Given the description of an element on the screen output the (x, y) to click on. 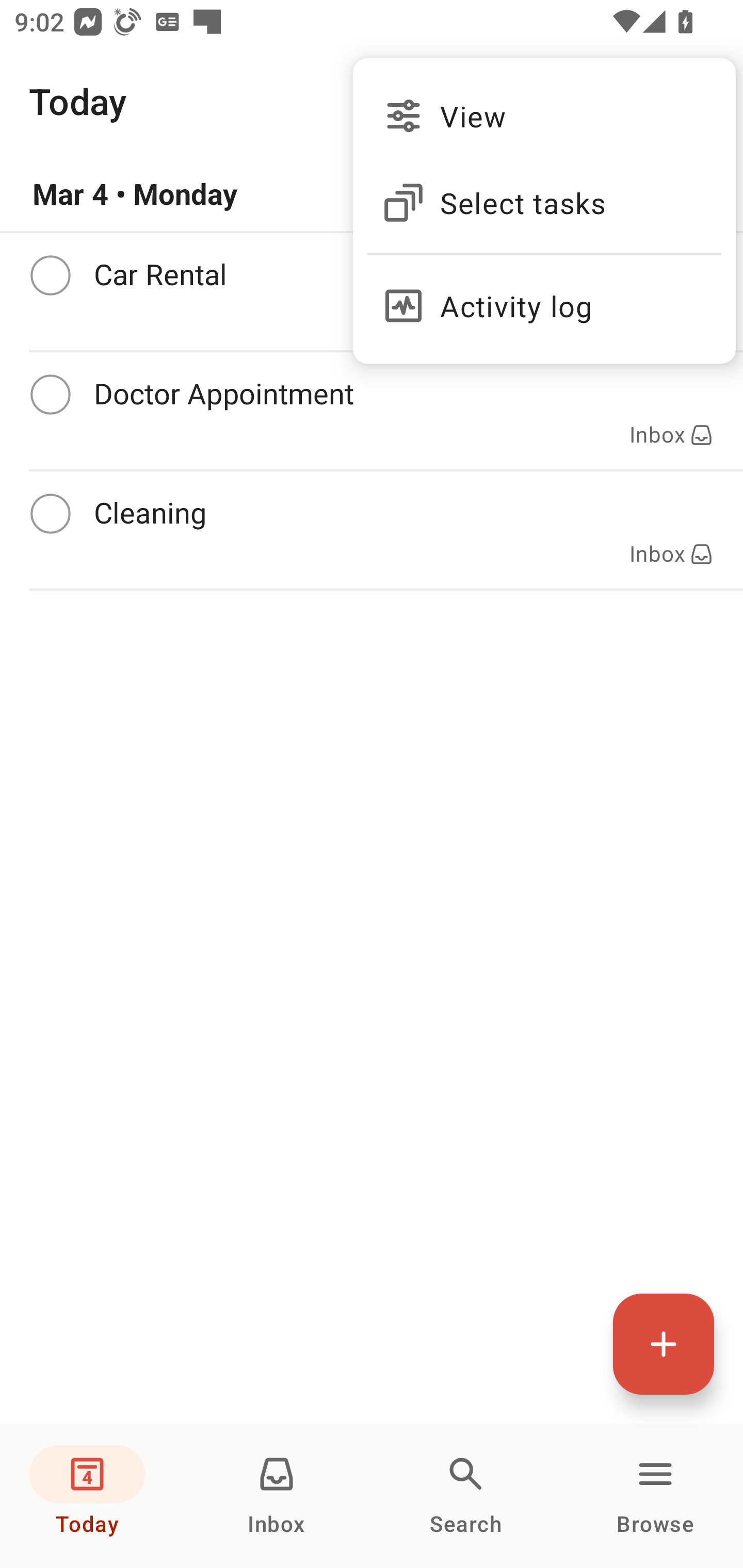
View (544, 115)
Select tasks (544, 202)
Activity log (544, 297)
